Given the description of an element on the screen output the (x, y) to click on. 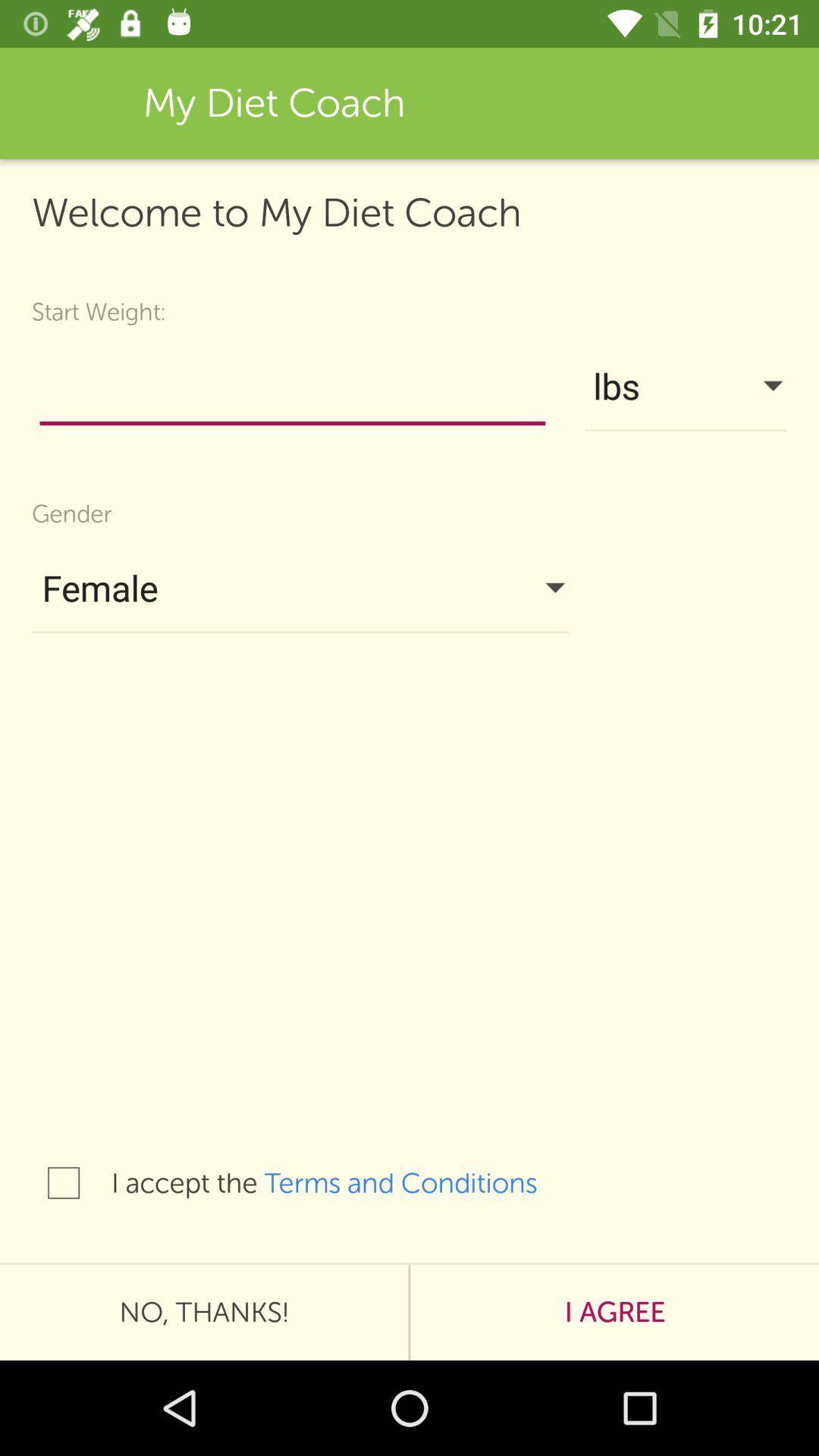
tap item next to the i accept the (416, 1182)
